Given the description of an element on the screen output the (x, y) to click on. 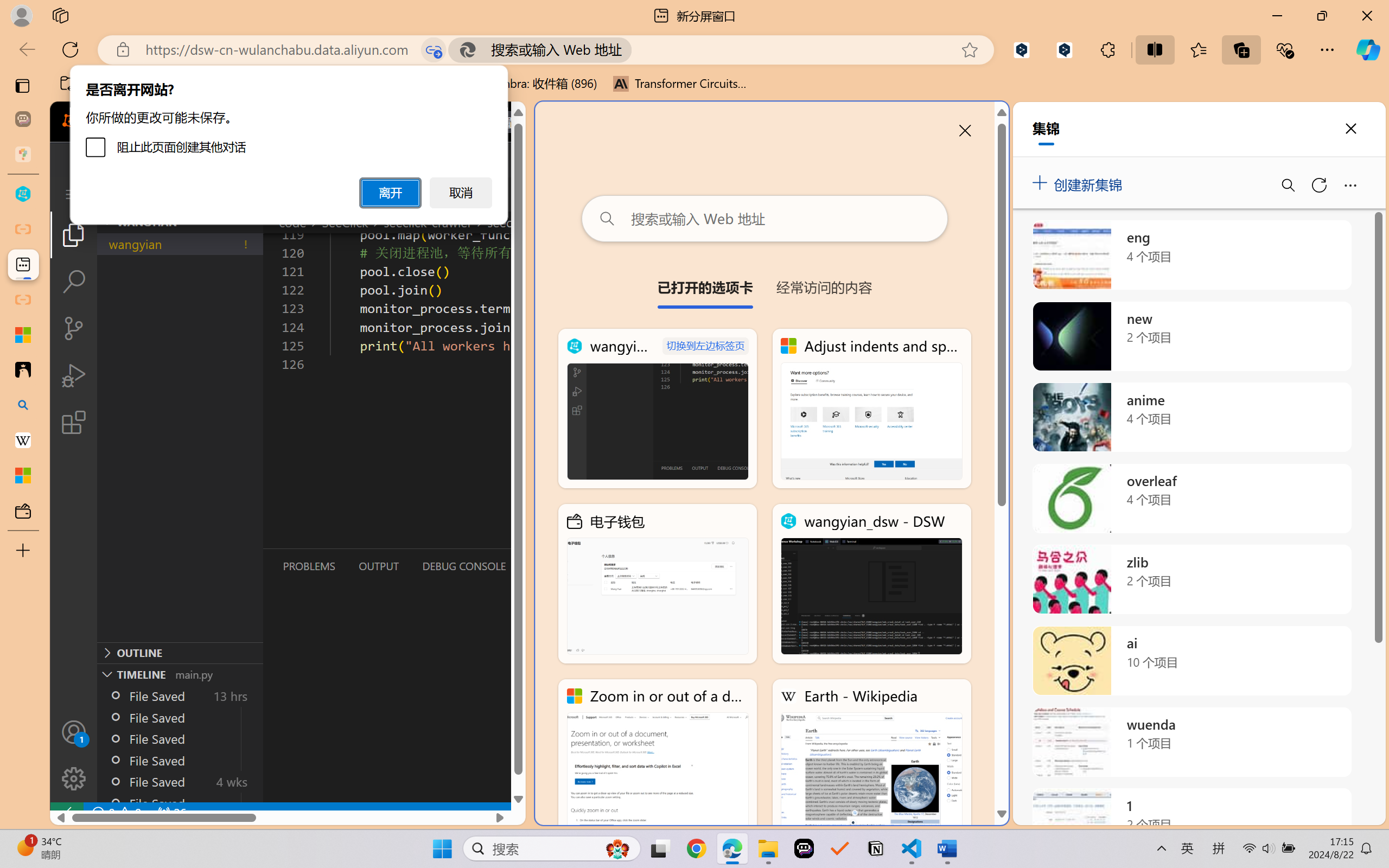
Problems (Ctrl+Shift+M) (308, 565)
wangyian_webcrawler - DSW (657, 408)
Manage (73, 778)
No Problems (115, 812)
remote (66, 812)
